Given the description of an element on the screen output the (x, y) to click on. 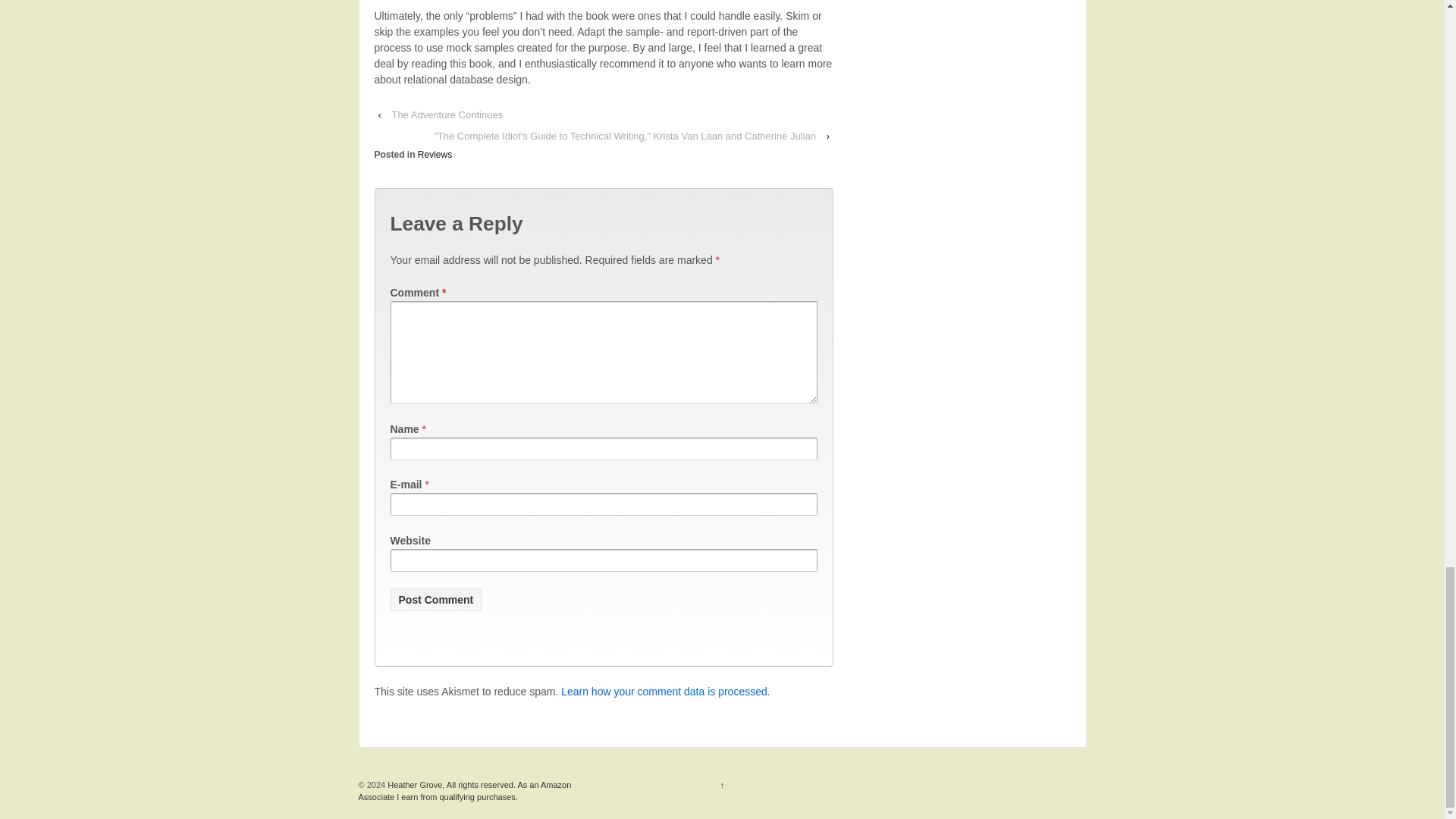
Reviews (434, 154)
Post Comment (435, 599)
Learn how your comment data is processed (663, 691)
Post Comment (435, 599)
The Adventure Continues (447, 114)
